Given the description of an element on the screen output the (x, y) to click on. 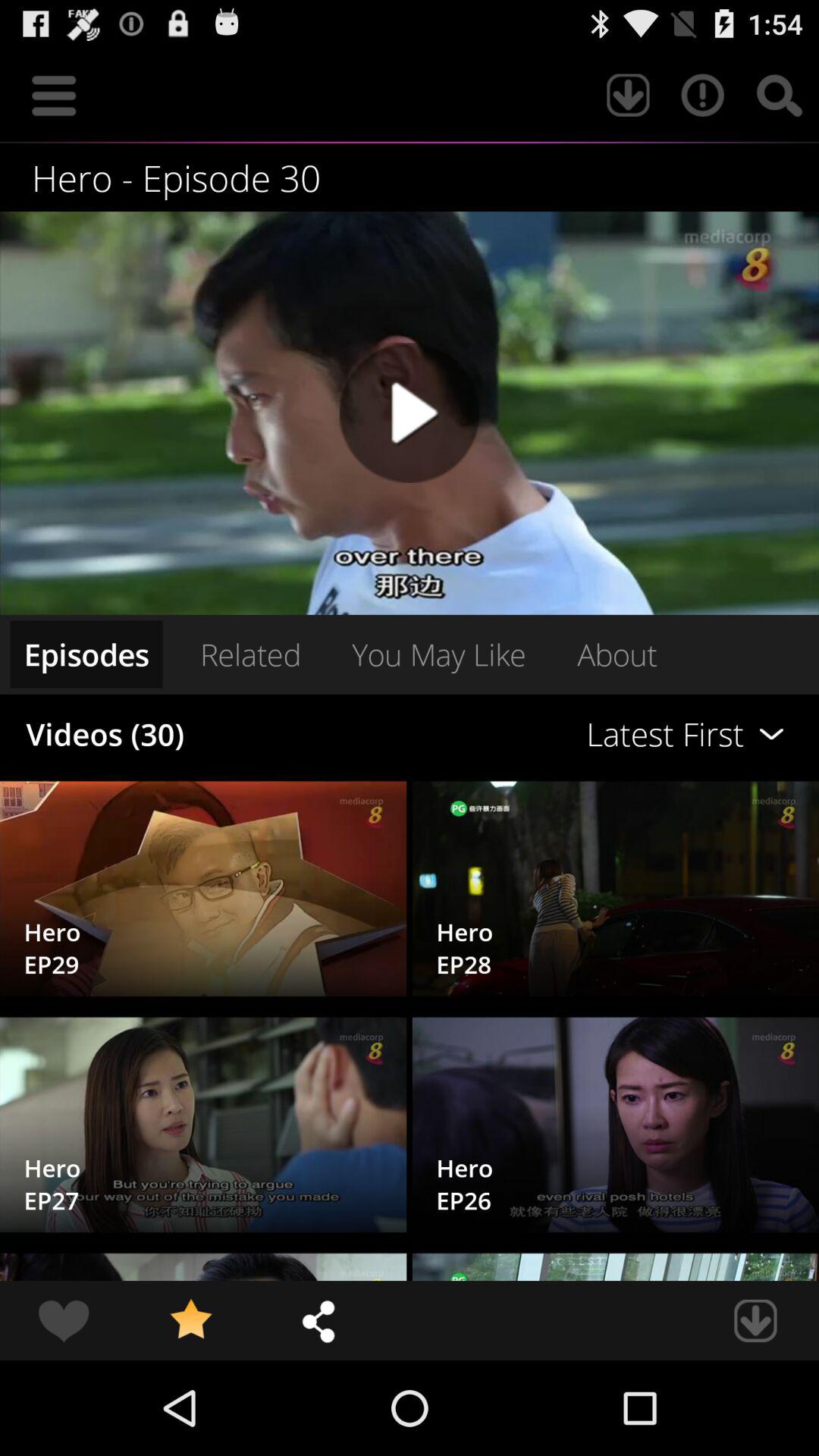
launch the icon below the hero - episode 30 icon (409, 412)
